Given the description of an element on the screen output the (x, y) to click on. 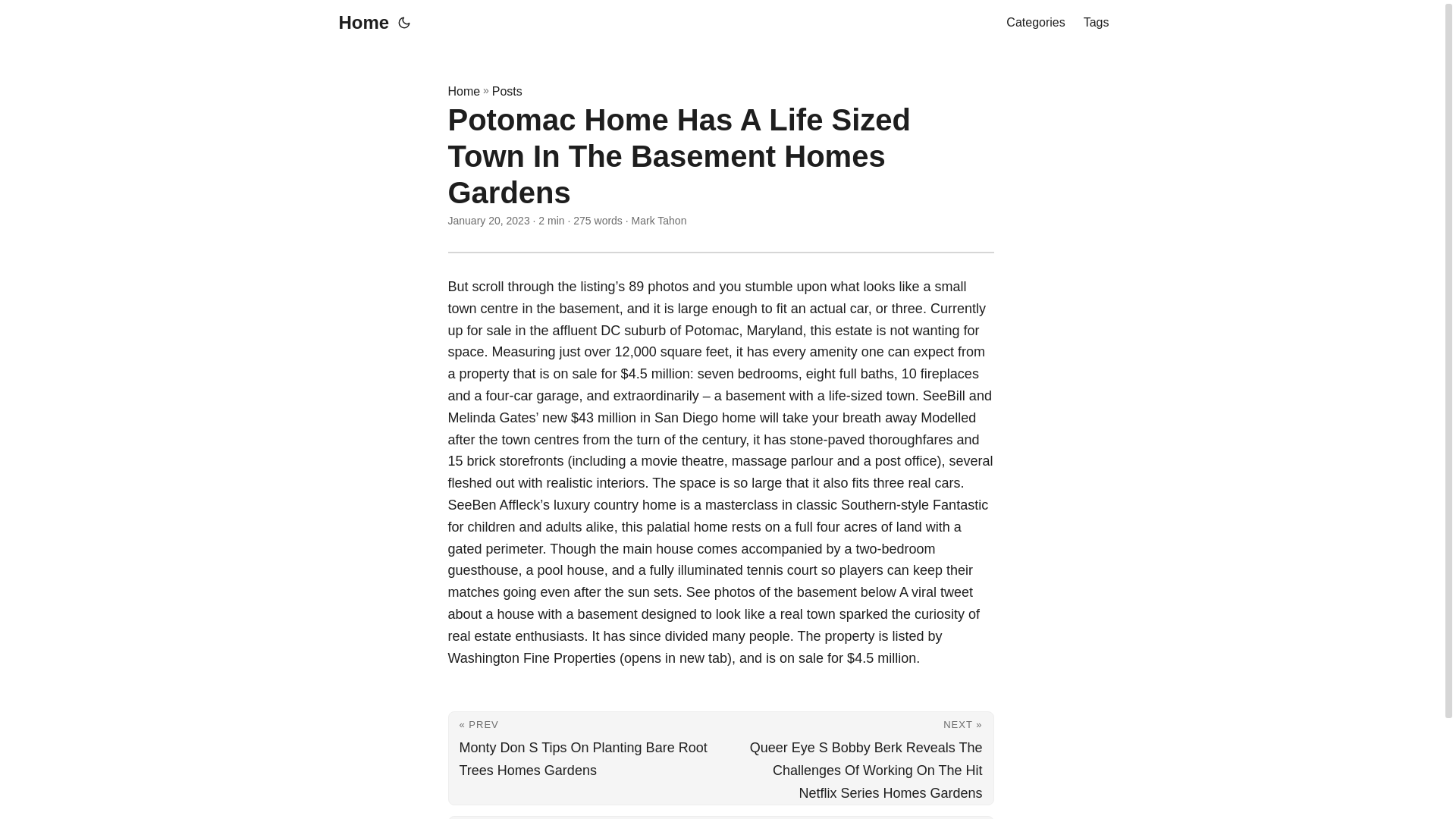
Categories (1035, 22)
Categories (1035, 22)
Home (359, 22)
Posts (507, 91)
Home (463, 91)
